Given the description of an element on the screen output the (x, y) to click on. 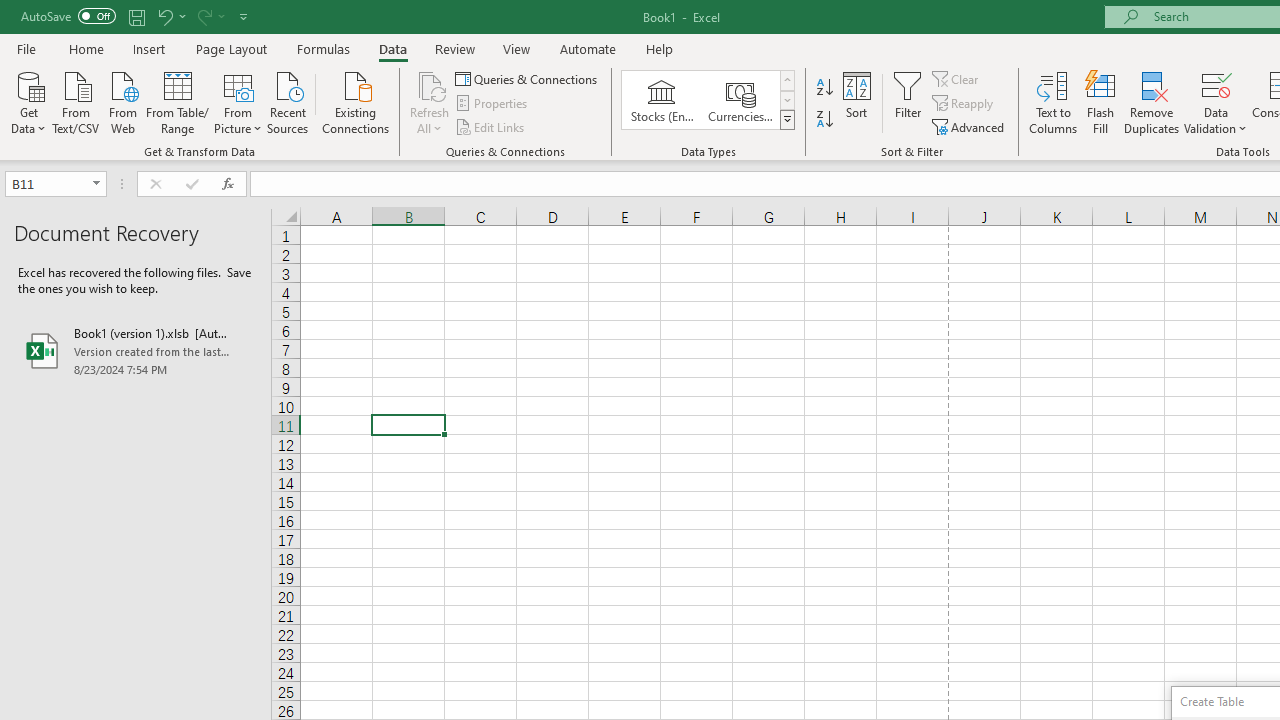
Sort A to Z (824, 87)
Edit Links (491, 126)
From Table/Range (177, 101)
Open (96, 183)
Data Validation... (1215, 102)
Automate (588, 48)
Flash Fill (1101, 102)
Help (660, 48)
Refresh All (429, 84)
Customize Quick Access Toolbar (244, 15)
Recent Sources (287, 101)
Book1 (version 1).xlsb  [AutoRecovered] (136, 350)
Refresh All (429, 102)
AutoSave (68, 16)
